Given the description of an element on the screen output the (x, y) to click on. 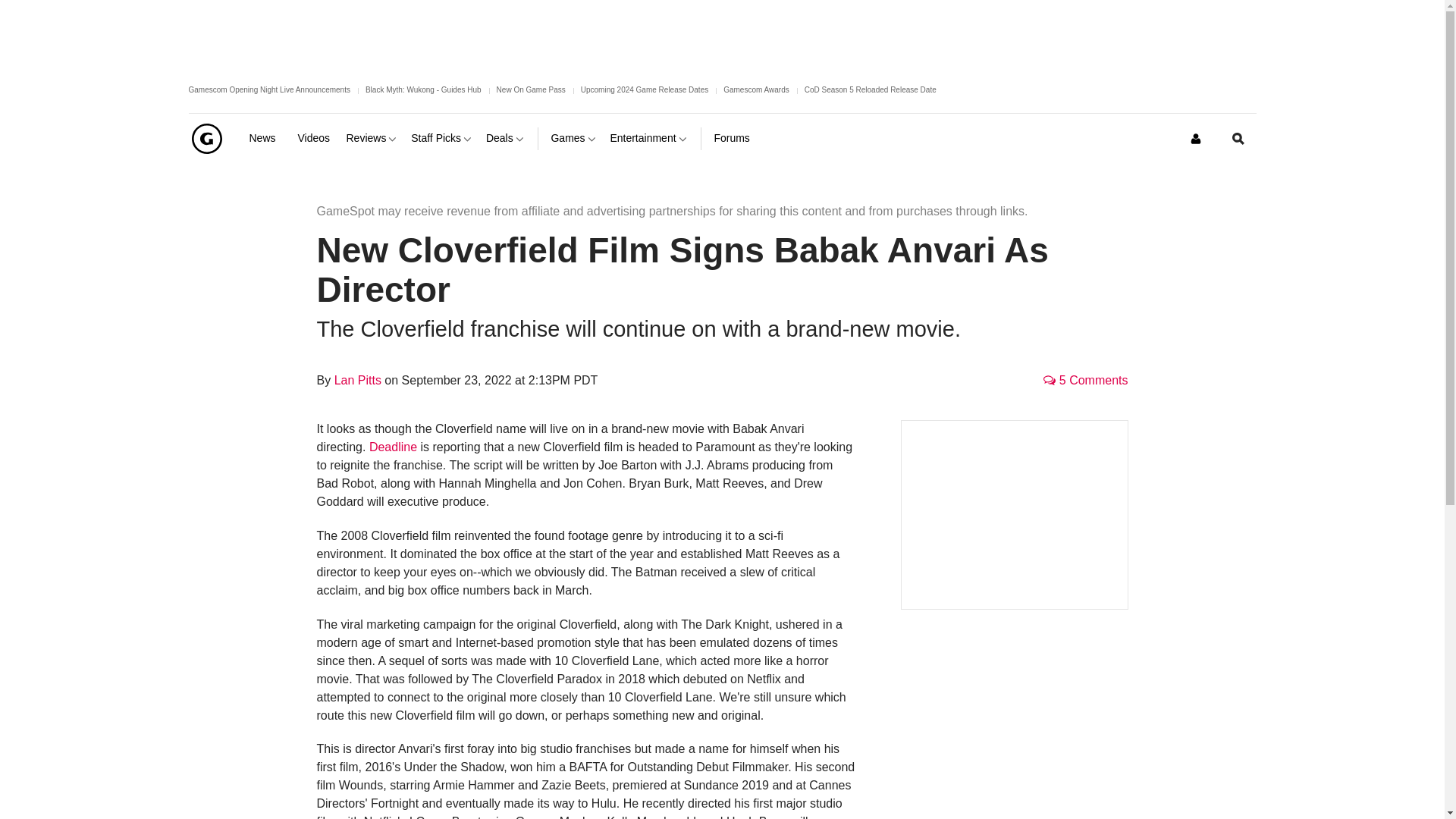
Gamescom Awards (756, 89)
Gamescom Opening Night Live Announcements (268, 89)
Reviews (372, 138)
GameSpot (205, 138)
News (266, 138)
Videos (315, 138)
Staff Picks (442, 138)
New On Game Pass (531, 89)
CoD Season 5 Reloaded Release Date (870, 89)
